Given the description of an element on the screen output the (x, y) to click on. 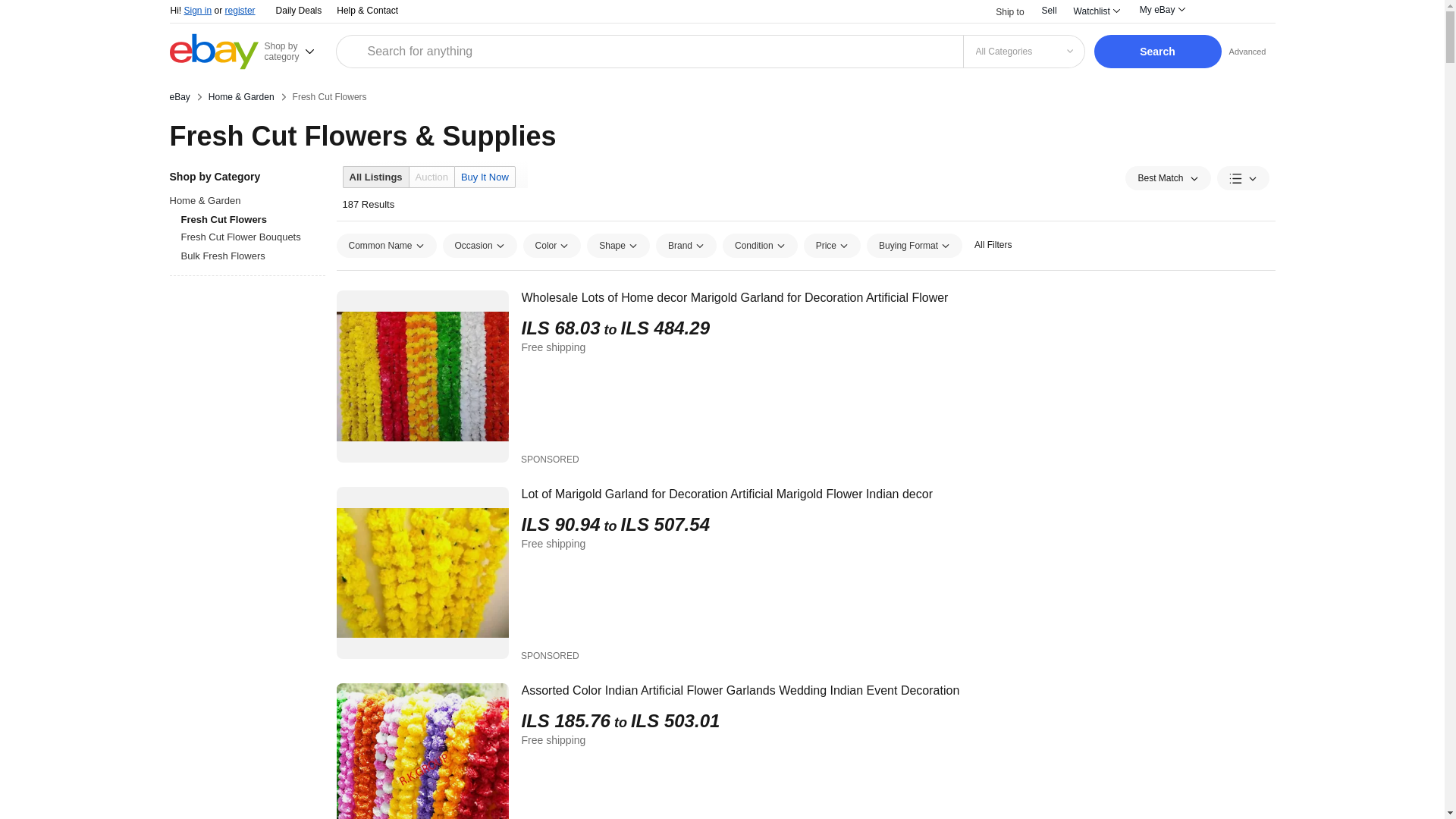
Search (1157, 51)
Bulk Fresh Flowers (252, 256)
Daily Deals (298, 11)
Watchlist (1095, 10)
Shop by category (296, 51)
eBay (180, 96)
Fresh Cut Flowers (329, 96)
Sell (1049, 9)
Search (1157, 51)
Notifications (1216, 11)
